Given the description of an element on the screen output the (x, y) to click on. 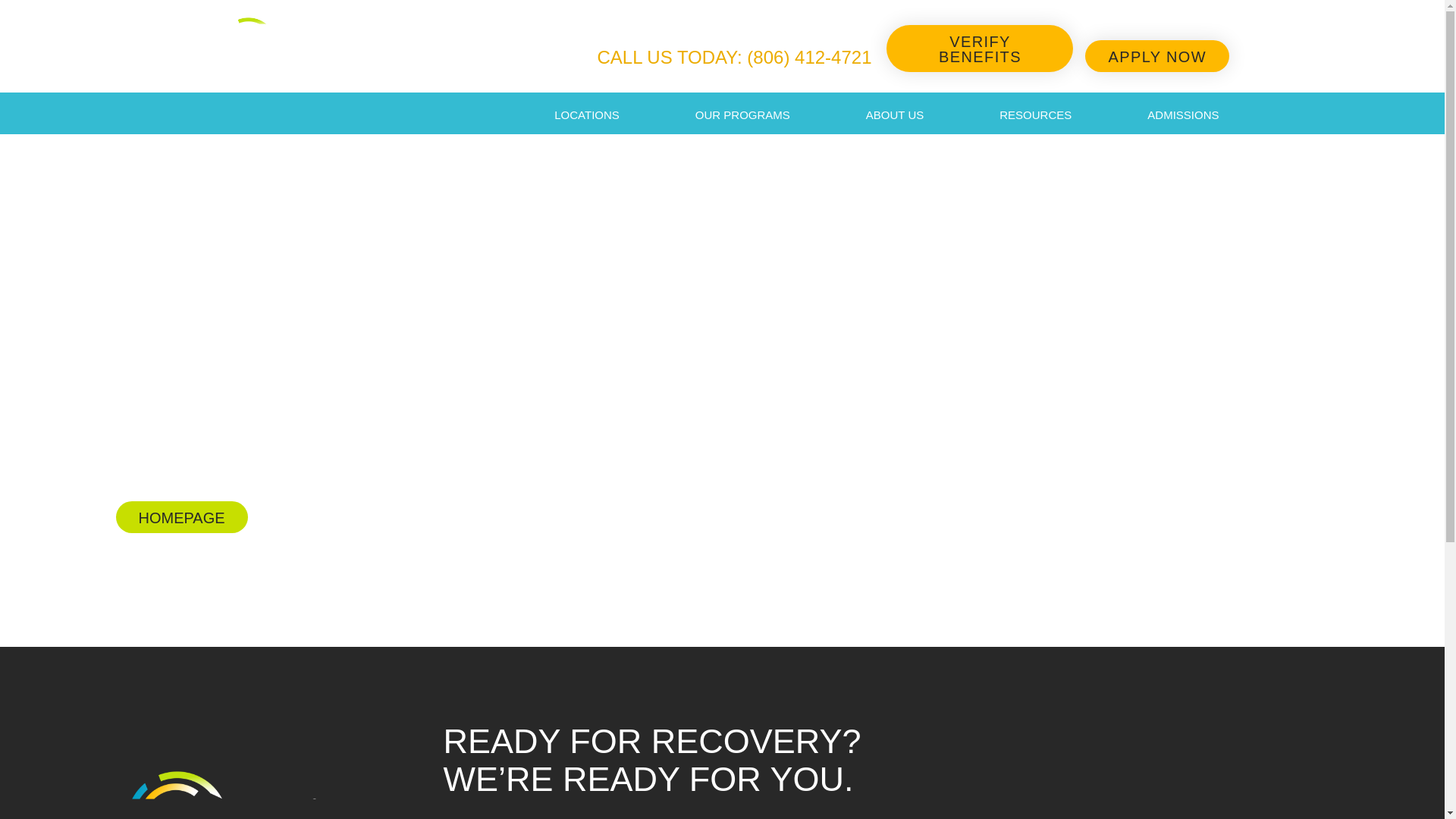
LOCATIONS (586, 115)
OUR PROGRAMS (742, 115)
ABOUT US (894, 115)
VERIFY BENEFITS (979, 48)
APPLY NOW (1156, 56)
RESOURCES (1035, 115)
